Given the description of an element on the screen output the (x, y) to click on. 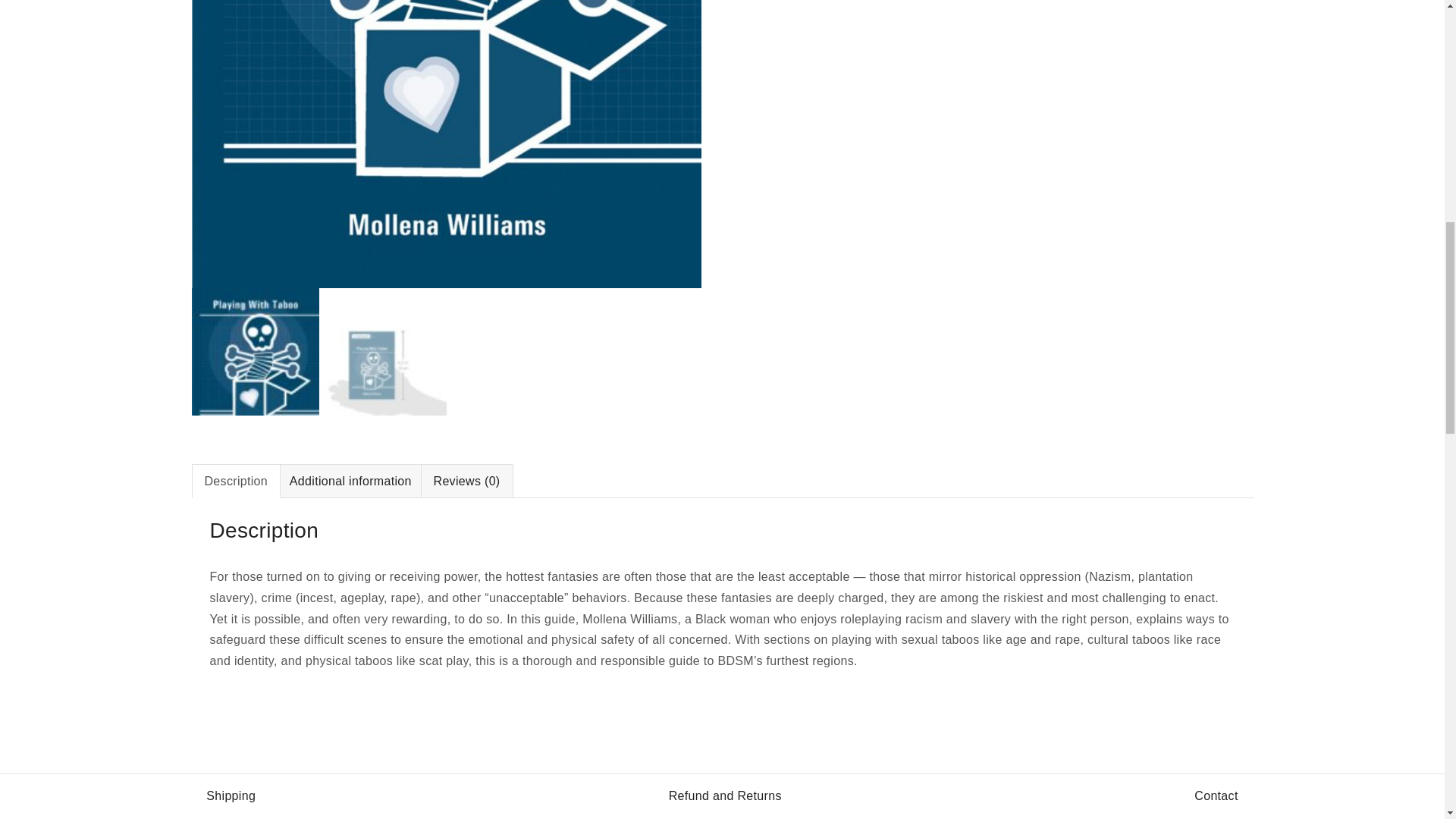
Description (236, 481)
Additional information (350, 481)
